Given the description of an element on the screen output the (x, y) to click on. 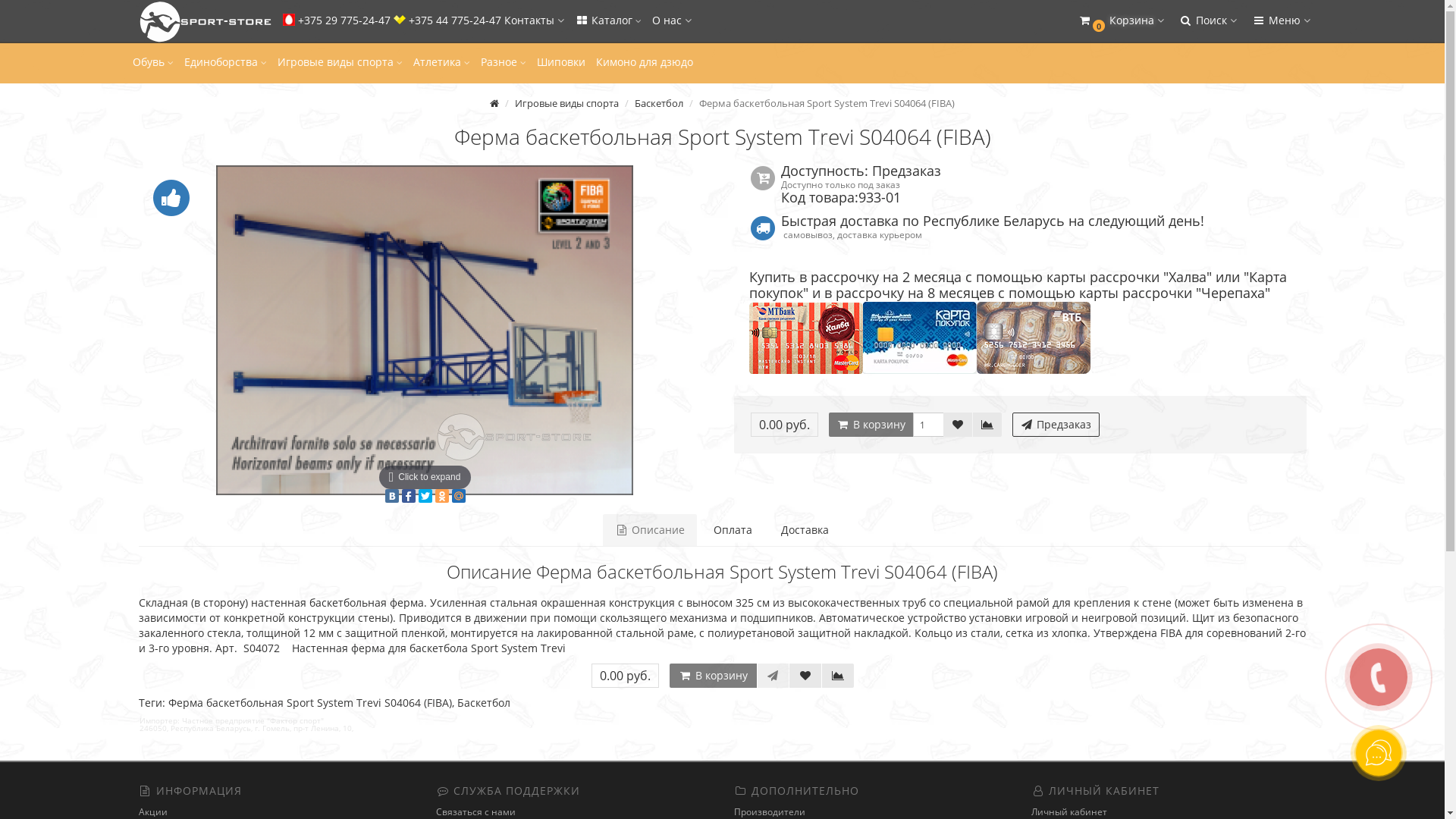
Facebook Element type: hover (408, 495)
Twitter Element type: hover (425, 495)
Click to expand Element type: text (424, 330)
sport-store.by Element type: hover (201, 21)
